Given the description of an element on the screen output the (x, y) to click on. 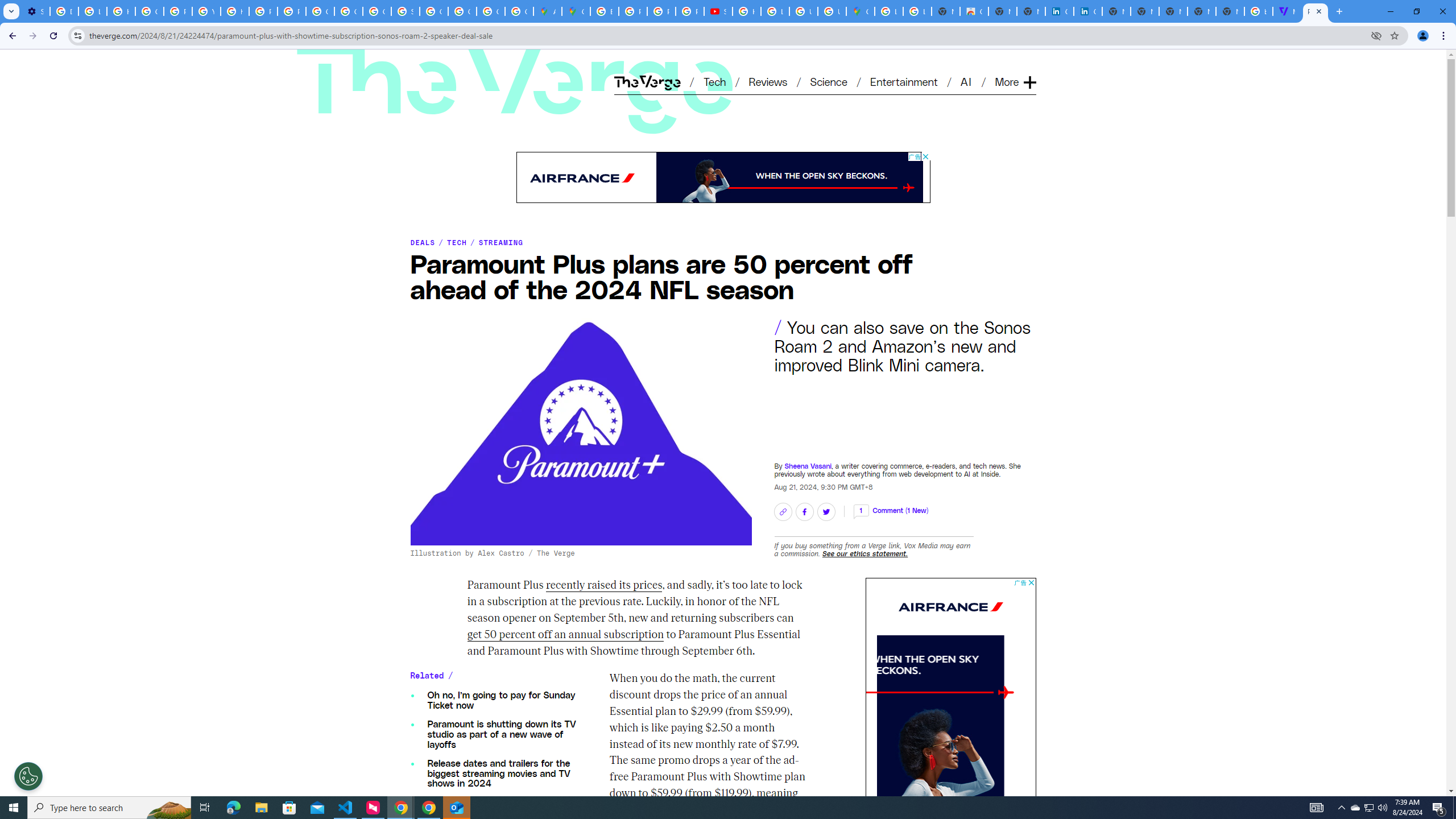
Reviews (767, 81)
How Chrome protects your passwords - Google Chrome Help (746, 11)
The Verge homepage The Verge (646, 81)
1 Comment (1 New) (890, 509)
More Expand (1015, 81)
Cookie Policy | LinkedIn (1088, 11)
Delete photos & videos - Computer - Google Photos Help (63, 11)
